Given the description of an element on the screen output the (x, y) to click on. 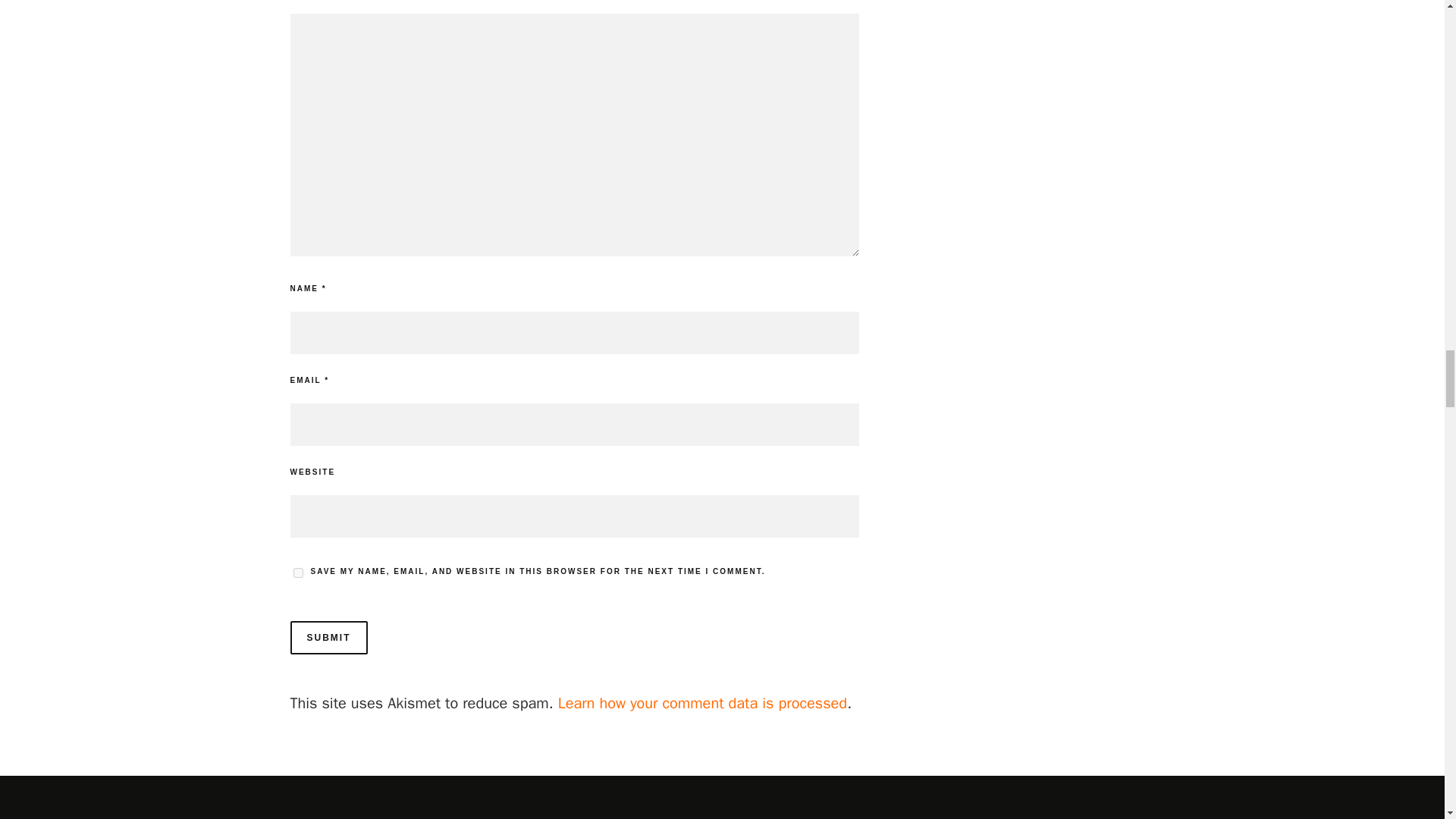
yes (297, 573)
Submit (327, 637)
